Given the description of an element on the screen output the (x, y) to click on. 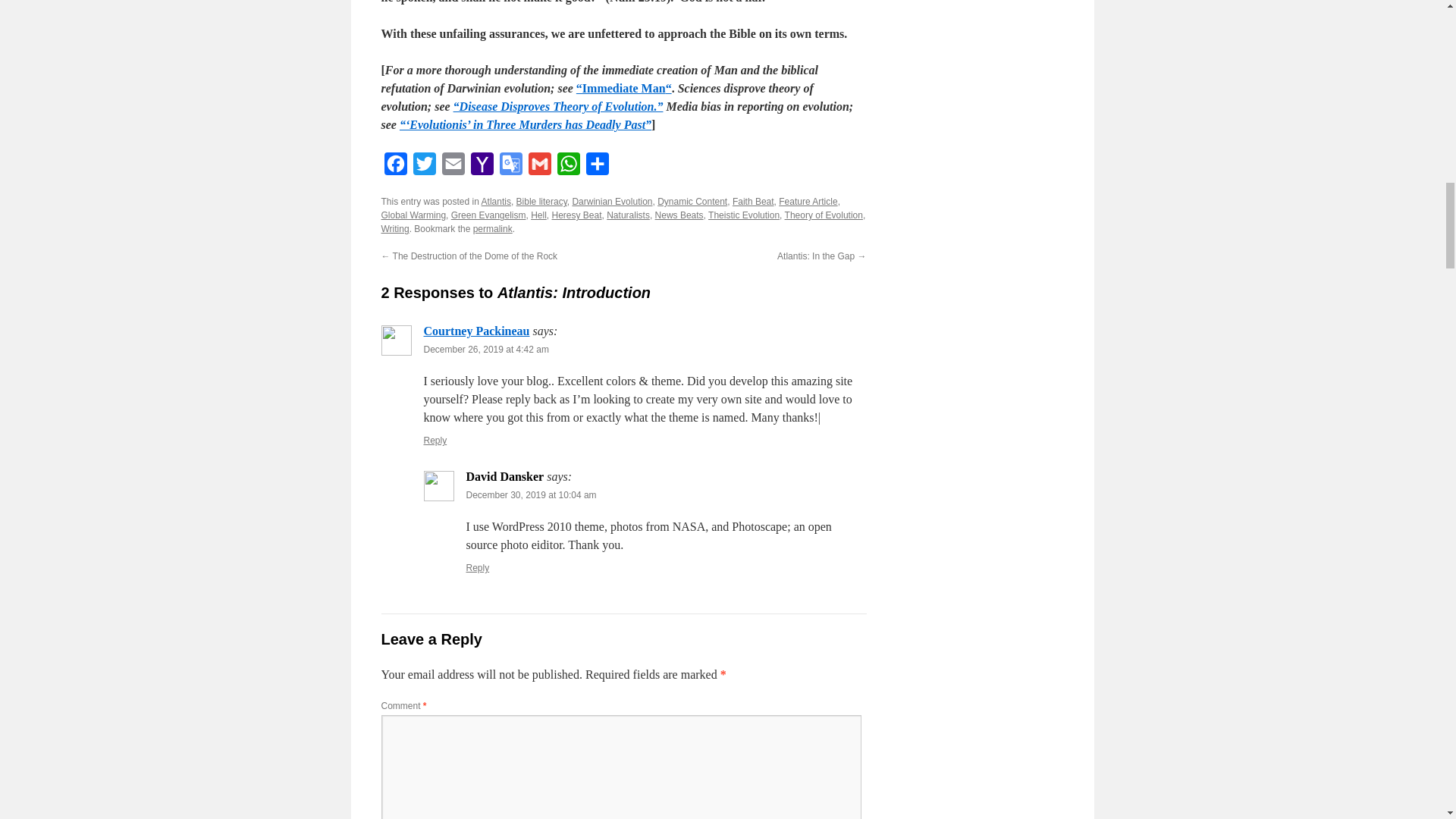
Google Translate (510, 167)
Permalink to Atlantis: Introduction (492, 228)
Email (452, 167)
Twitter (423, 167)
Yahoo Mail (481, 167)
Email (452, 167)
WhatsApp (567, 167)
Gmail (538, 167)
Yahoo Mail (481, 167)
WhatsApp (567, 167)
